Given the description of an element on the screen output the (x, y) to click on. 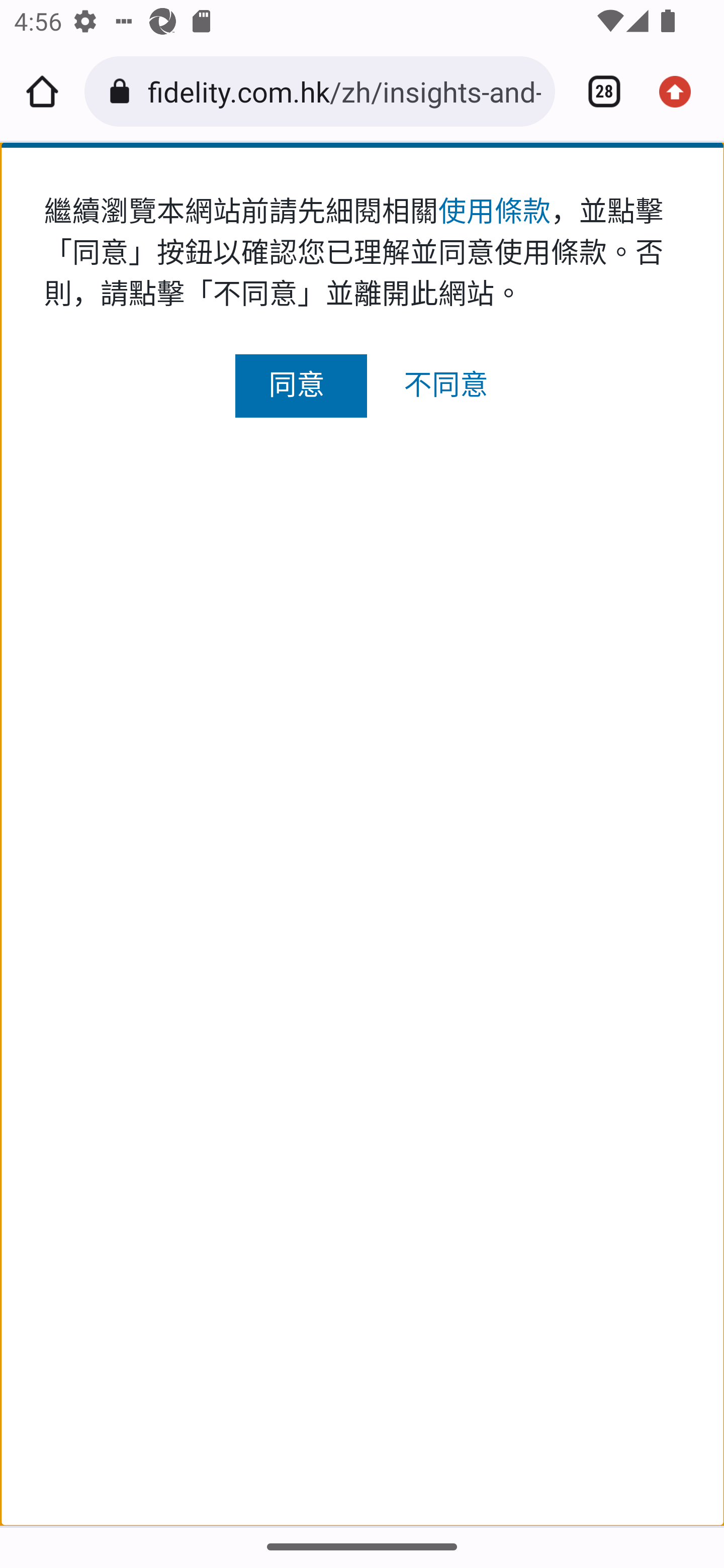
Home (42, 91)
Connection is secure (122, 91)
Switch or close tabs (597, 91)
Update available. More options (681, 91)
zh  (362, 228)
使用條款 (494, 211)
